Given the description of an element on the screen output the (x, y) to click on. 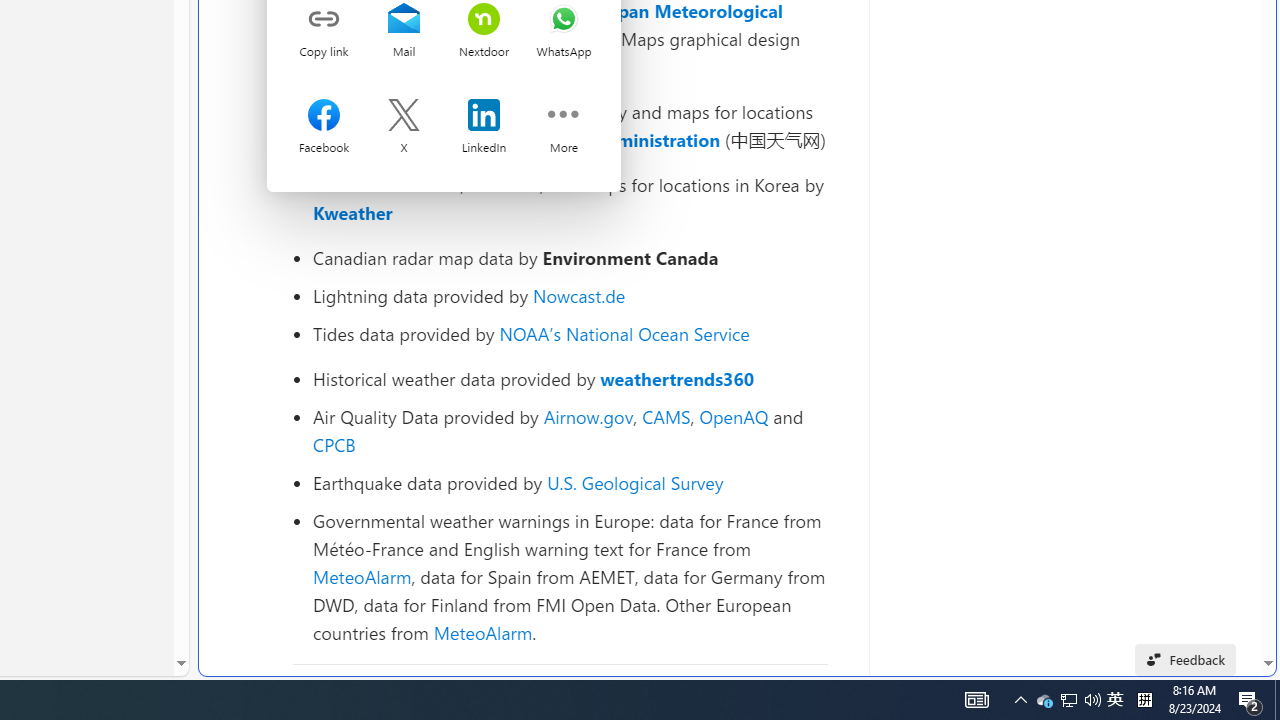
Copy link (324, 20)
Earthquake data provided by U.S. Geological Survey (570, 482)
Share via email (403, 20)
Share on Nextdoor (484, 20)
Nowcast.de (578, 295)
MeteoAlarm (482, 632)
More share options (563, 117)
Share on X (403, 117)
Lightning data provided by Nowcast.de (570, 296)
Share on LinkedIn (484, 117)
OpenAQ (733, 416)
